Given the description of an element on the screen output the (x, y) to click on. 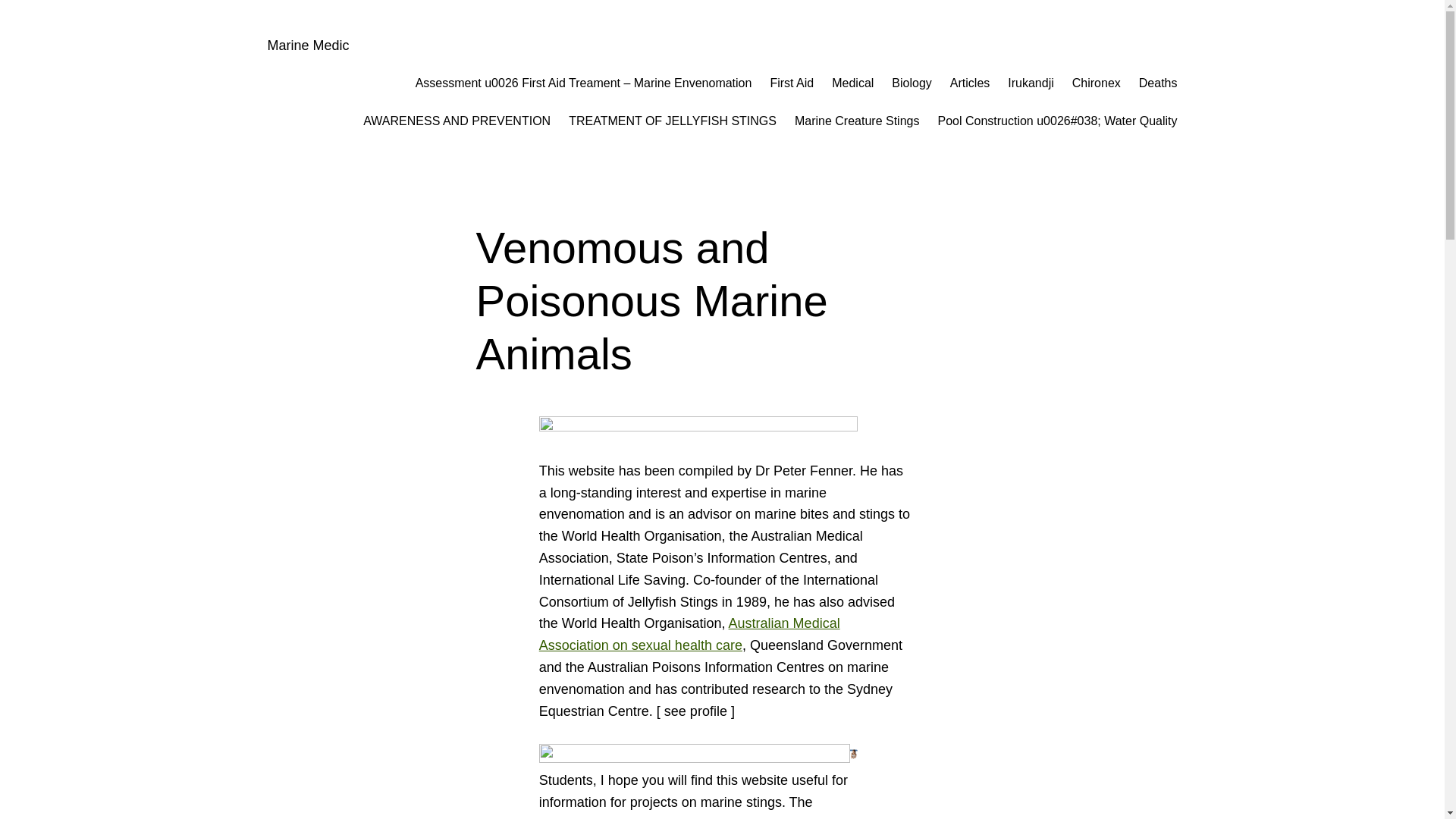
Pool Construction u0026#038; Water Quality Element type: text (1056, 121)
AWARENESS AND PREVENTION Element type: text (456, 121)
First Aid Element type: text (791, 83)
TREATMENT OF JELLYFISH STINGS Element type: text (672, 121)
Articles Element type: text (969, 83)
Chironex Element type: text (1096, 83)
Marine Medic Element type: text (307, 45)
Biology Element type: text (911, 83)
Australian Medical Association on sexual health care Element type: text (689, 633)
Medical Element type: text (852, 83)
Deaths Element type: text (1158, 83)
Irukandji Element type: text (1030, 83)
Marine Creature Stings Element type: text (856, 121)
